Given the description of an element on the screen output the (x, y) to click on. 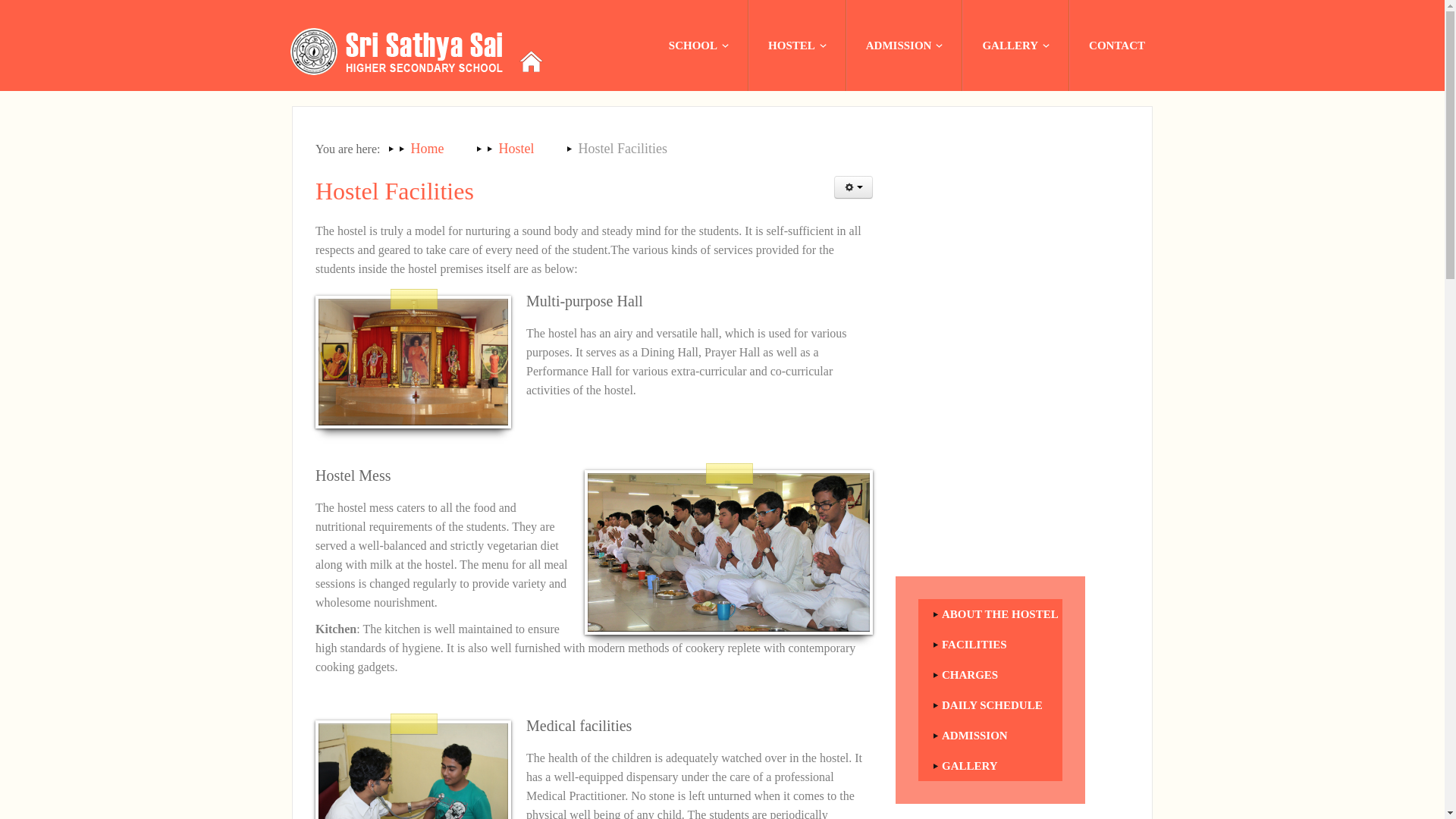
Hostel Facilities (394, 190)
Home (431, 148)
Home (413, 50)
HOSTEL (796, 45)
Hostel (520, 148)
CONTACT (1115, 45)
SCHOOL (698, 45)
GALLERY (1015, 45)
ADMISSION (903, 45)
